Given the description of an element on the screen output the (x, y) to click on. 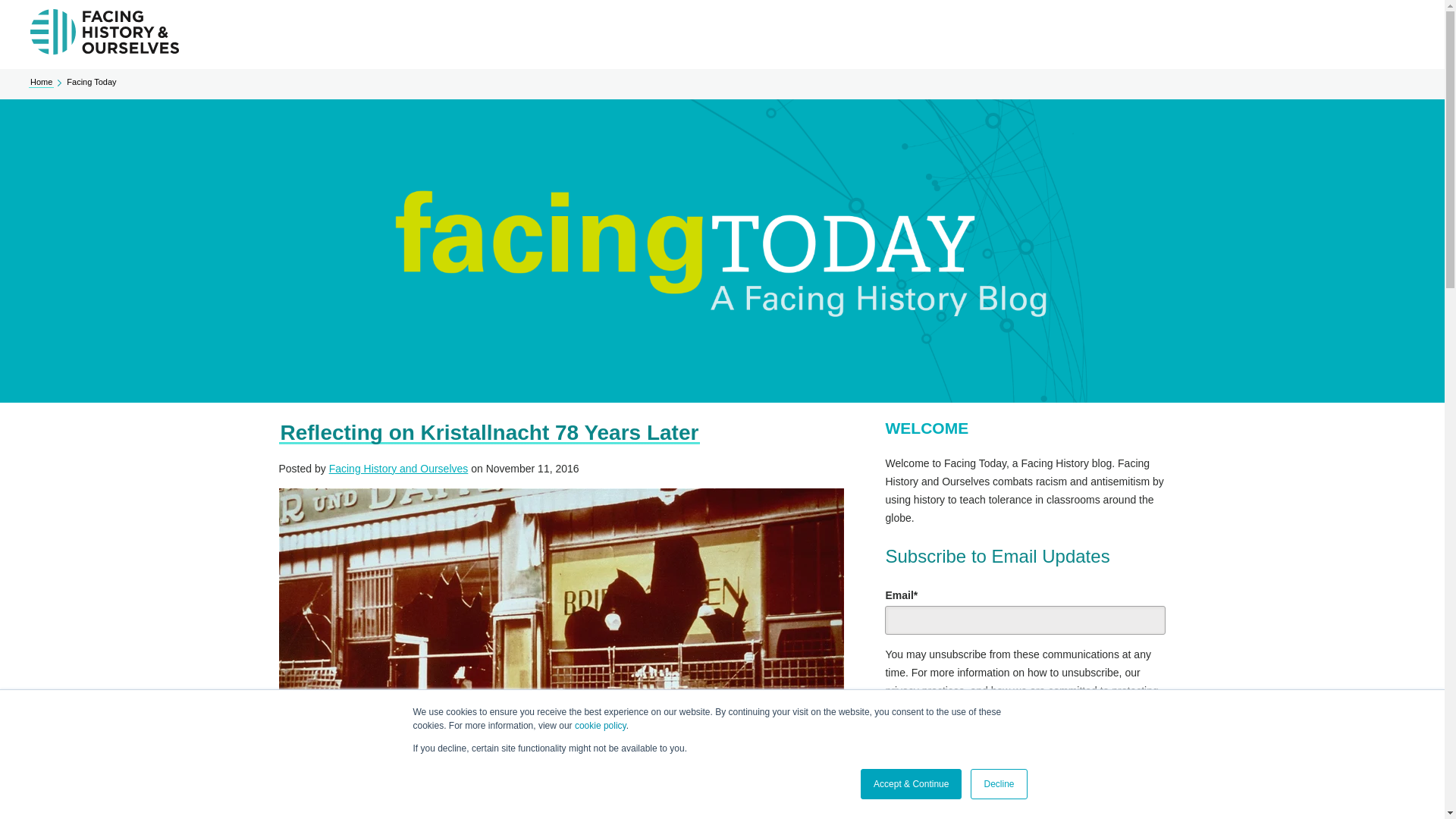
Privacy Policy (1012, 717)
reCAPTCHA (981, 811)
Reflecting on Kristallnacht 78 Years Later (489, 432)
cookie policy (600, 725)
Decline (998, 784)
Home (41, 81)
Facing History and Ourselves (398, 468)
